Given the description of an element on the screen output the (x, y) to click on. 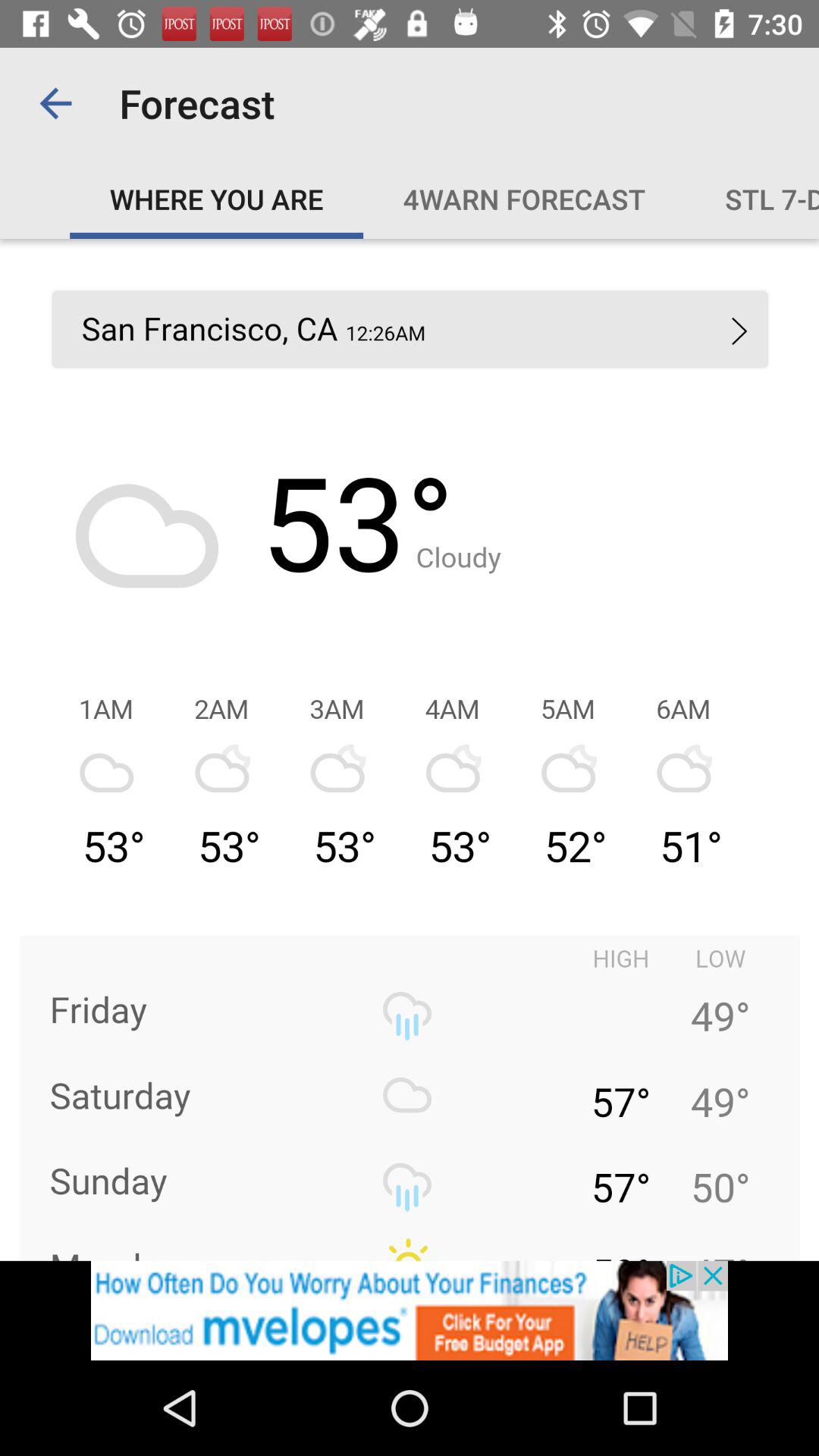
select the location (409, 749)
